Given the description of an element on the screen output the (x, y) to click on. 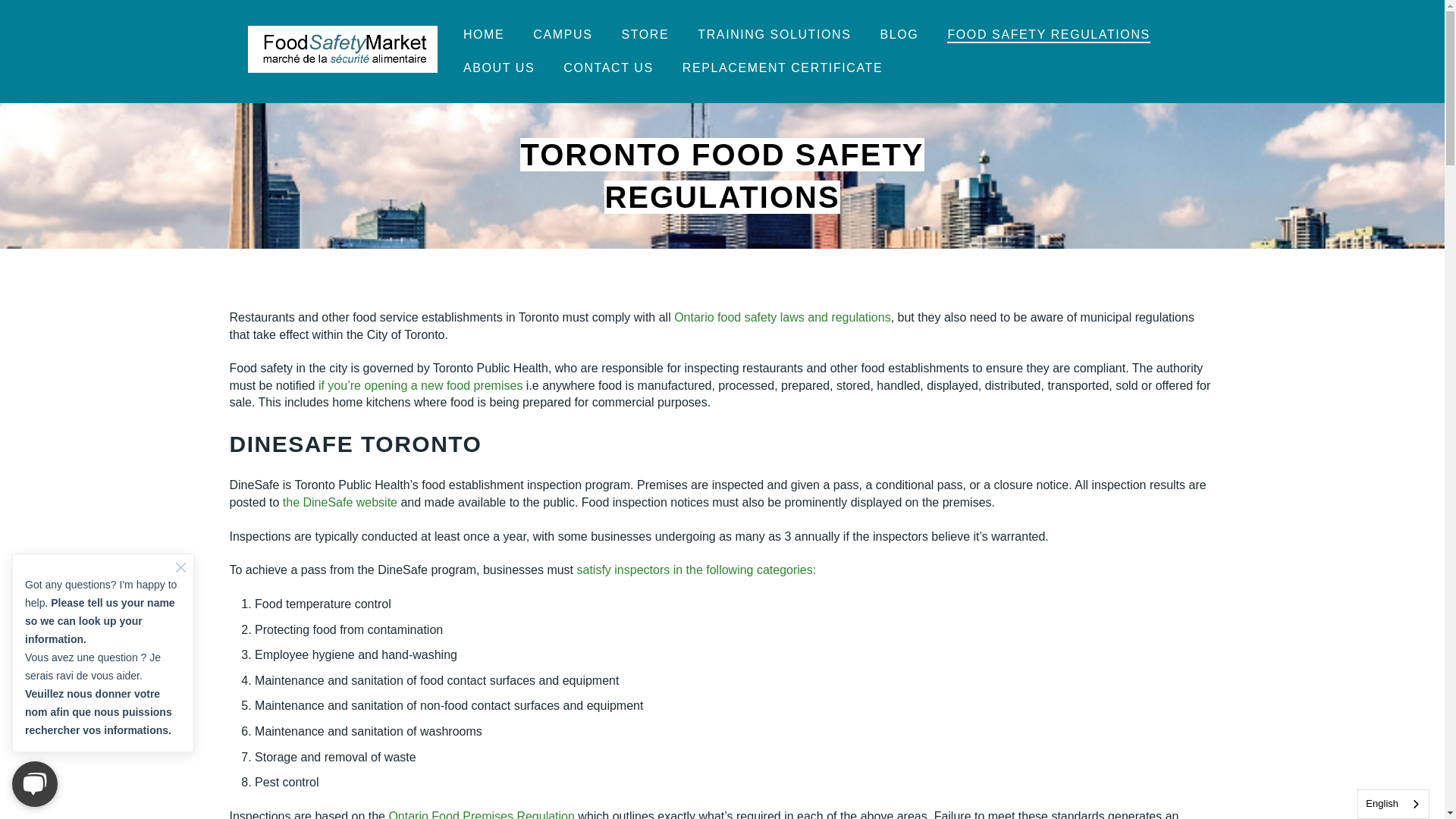
HOME (483, 33)
Ontario Food Premises Regulation (480, 814)
the DineSafe website (341, 502)
satisfy inspectors in the following categories: (695, 569)
Food Safety Market logo (342, 48)
Ontario food safety laws and regulations (782, 317)
STORE (644, 33)
REPLACEMENT CERTIFICATE (782, 67)
TRAINING SOLUTIONS (773, 33)
CONTACT US (608, 67)
ABOUT US (498, 67)
BLOG (899, 33)
FOOD SAFETY REGULATIONS (1048, 33)
CAMPUS (562, 33)
